Given the description of an element on the screen output the (x, y) to click on. 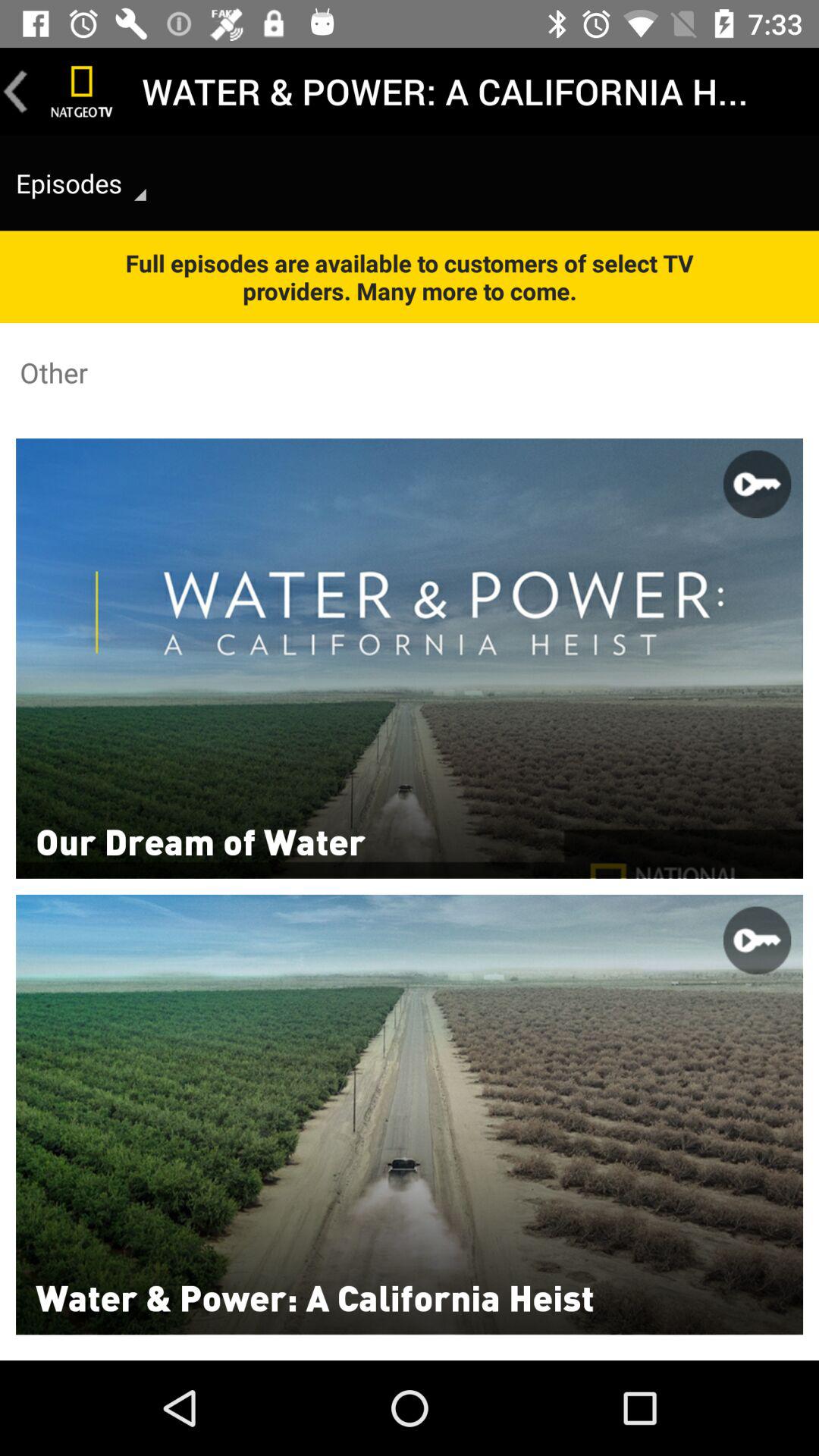
view the channel (81, 91)
